Given the description of an element on the screen output the (x, y) to click on. 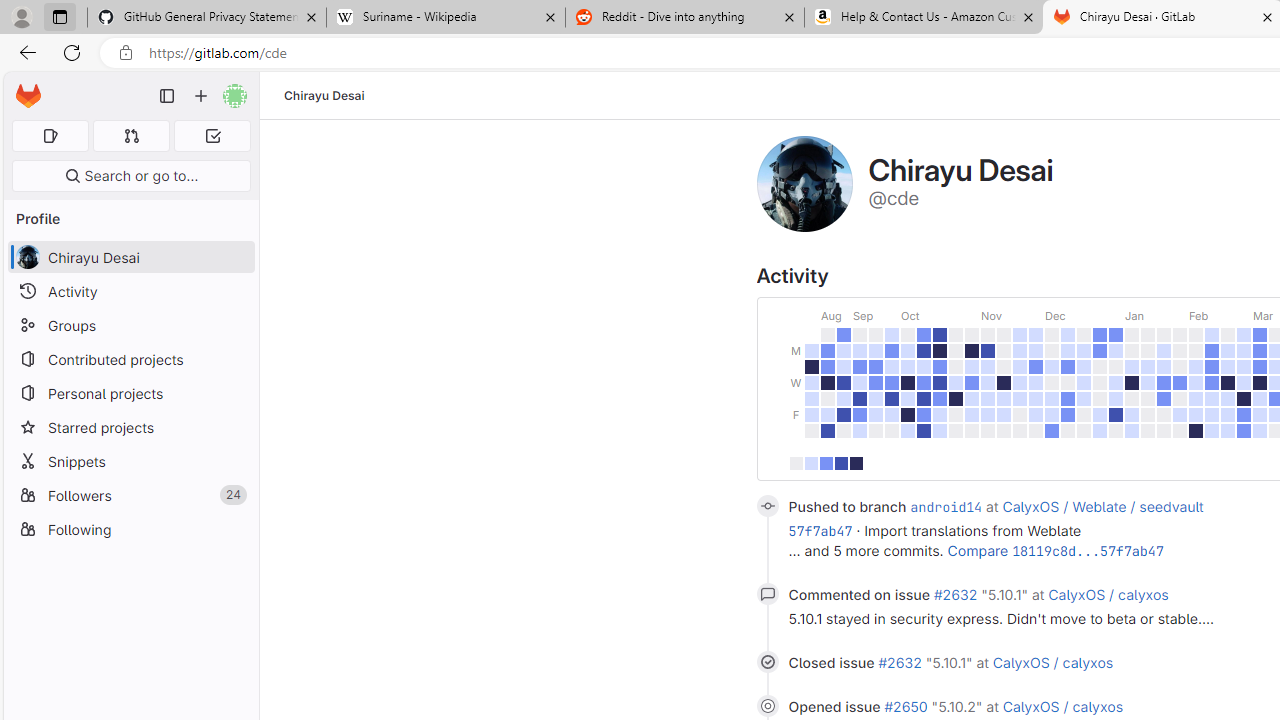
Class: s14 (767, 705)
Starred projects (130, 427)
Activity (130, 291)
